Given the description of an element on the screen output the (x, y) to click on. 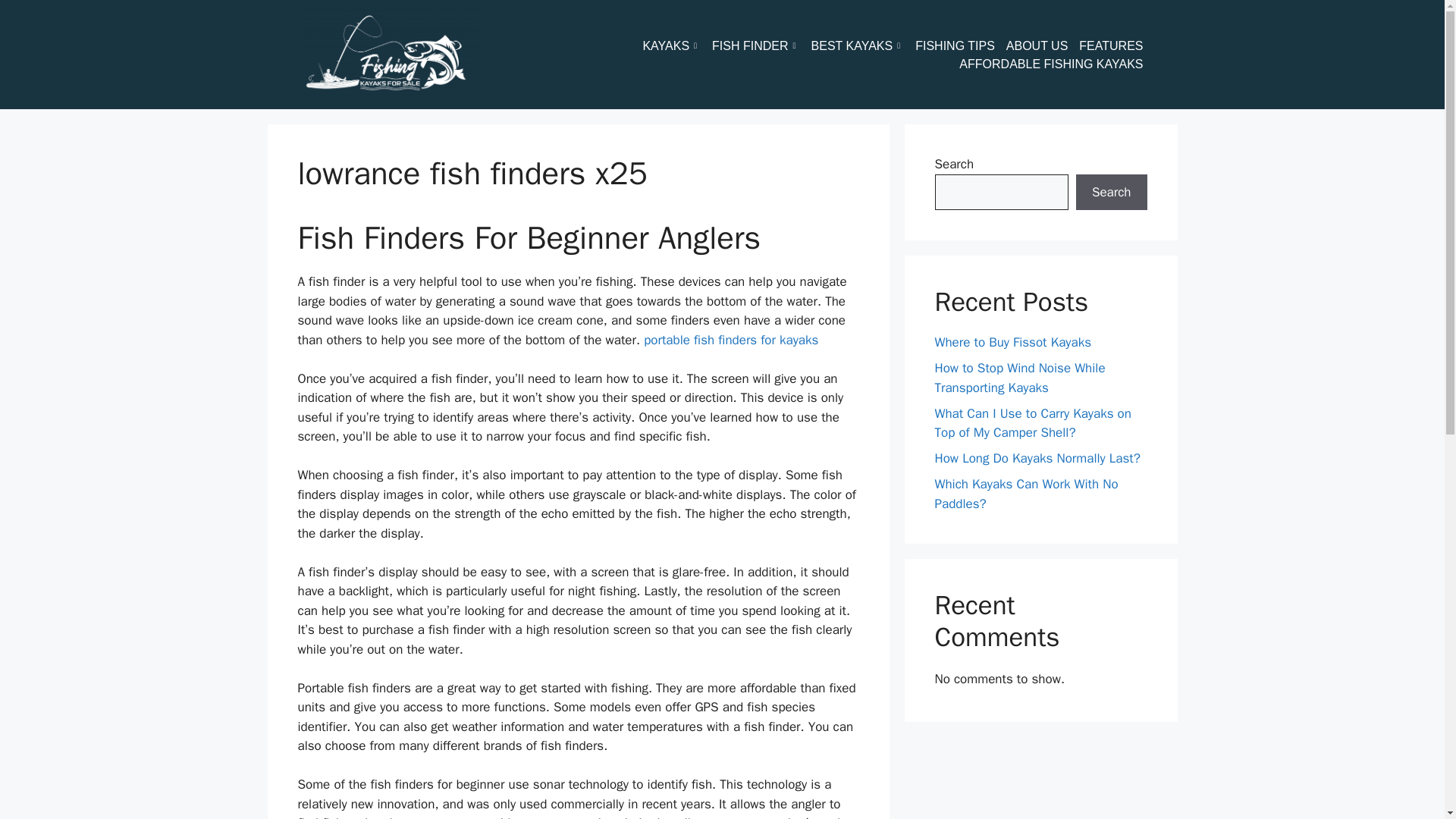
Where to Buy Fissot Kayaks (1012, 342)
KAYAKS (676, 45)
FISHING TIPS (960, 45)
What Can I Use to Carry Kayaks on Top of My Camper Shell? (1032, 423)
BEST KAYAKS (862, 45)
AFFORDABLE FISHING KAYAKS (1056, 64)
FEATURES (1116, 45)
Search (1111, 192)
FISH FINDER (760, 45)
ABOUT US (1043, 45)
portable fish finders for kayaks (730, 340)
Which Kayaks Can Work With No Paddles? (1026, 493)
How to Stop Wind Noise While Transporting Kayaks (1019, 377)
How Long Do Kayaks Normally Last? (1037, 458)
